Given the description of an element on the screen output the (x, y) to click on. 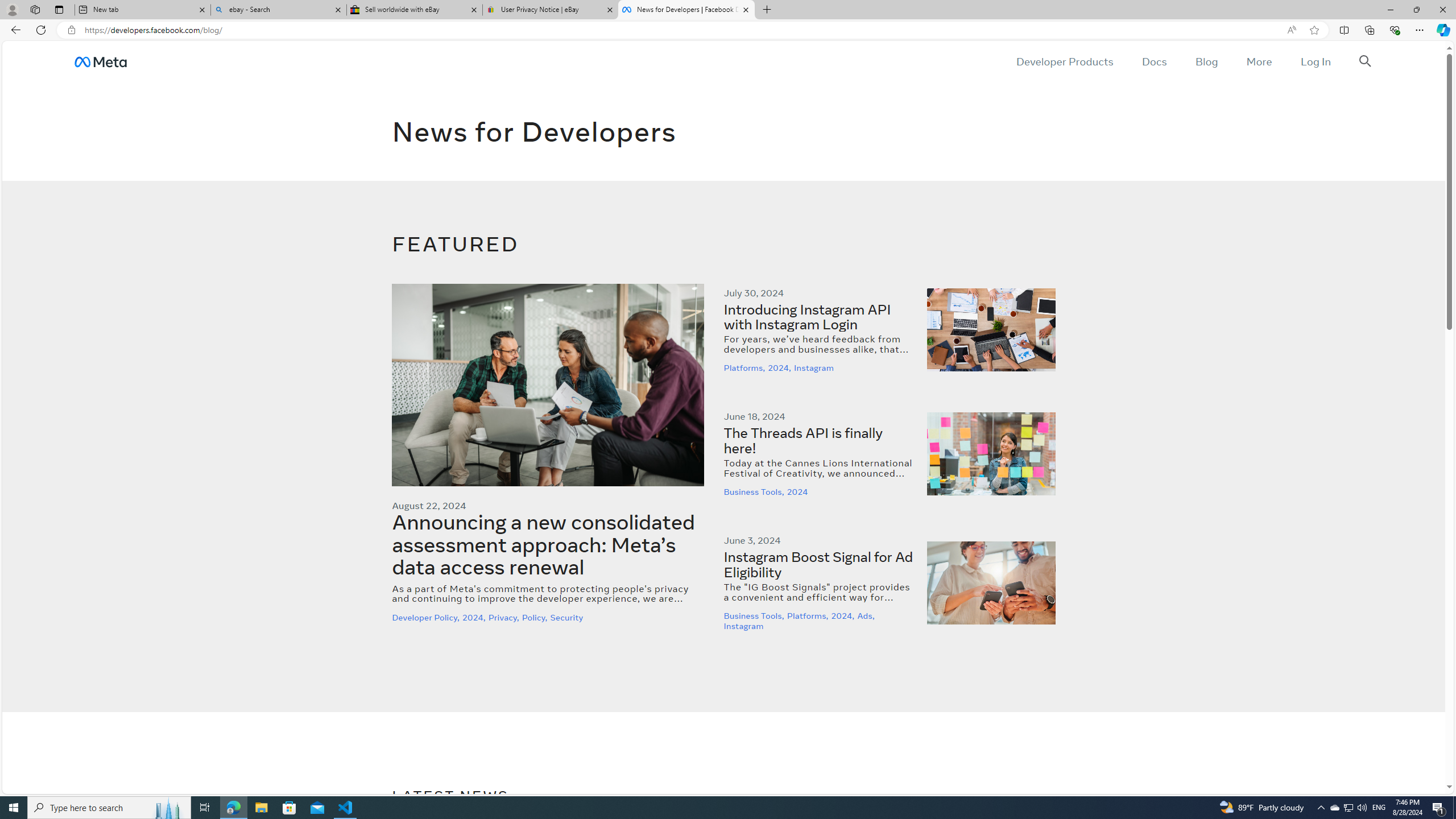
Developer Products (1064, 61)
Docs (1153, 61)
